Given the description of an element on the screen output the (x, y) to click on. 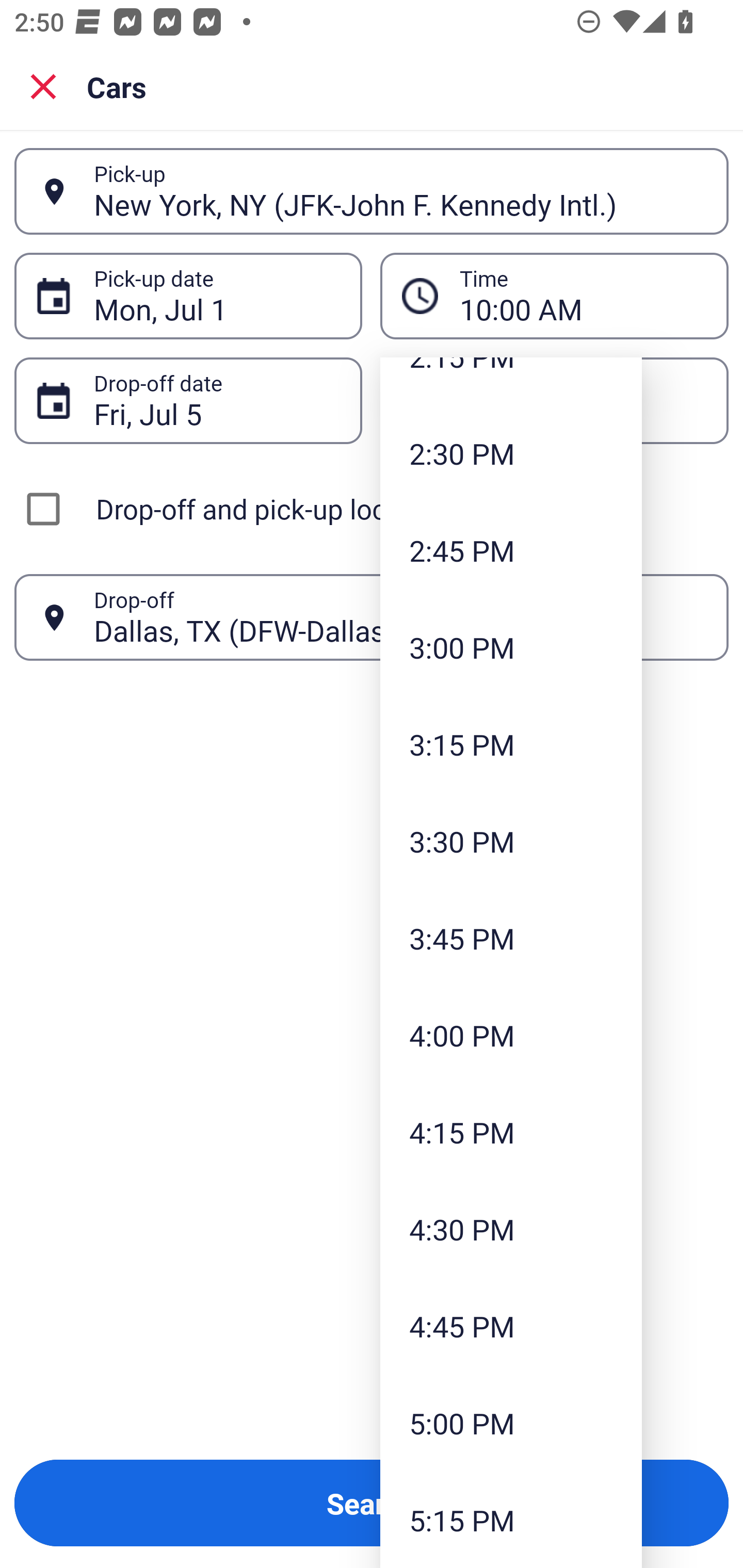
2:30 PM (510, 452)
2:45 PM (510, 549)
3:00 PM (510, 647)
3:15 PM (510, 744)
3:30 PM (510, 841)
3:45 PM (510, 937)
4:00 PM (510, 1034)
4:15 PM (510, 1131)
4:30 PM (510, 1228)
4:45 PM (510, 1326)
5:00 PM (510, 1422)
5:15 PM (510, 1519)
